Given the description of an element on the screen output the (x, y) to click on. 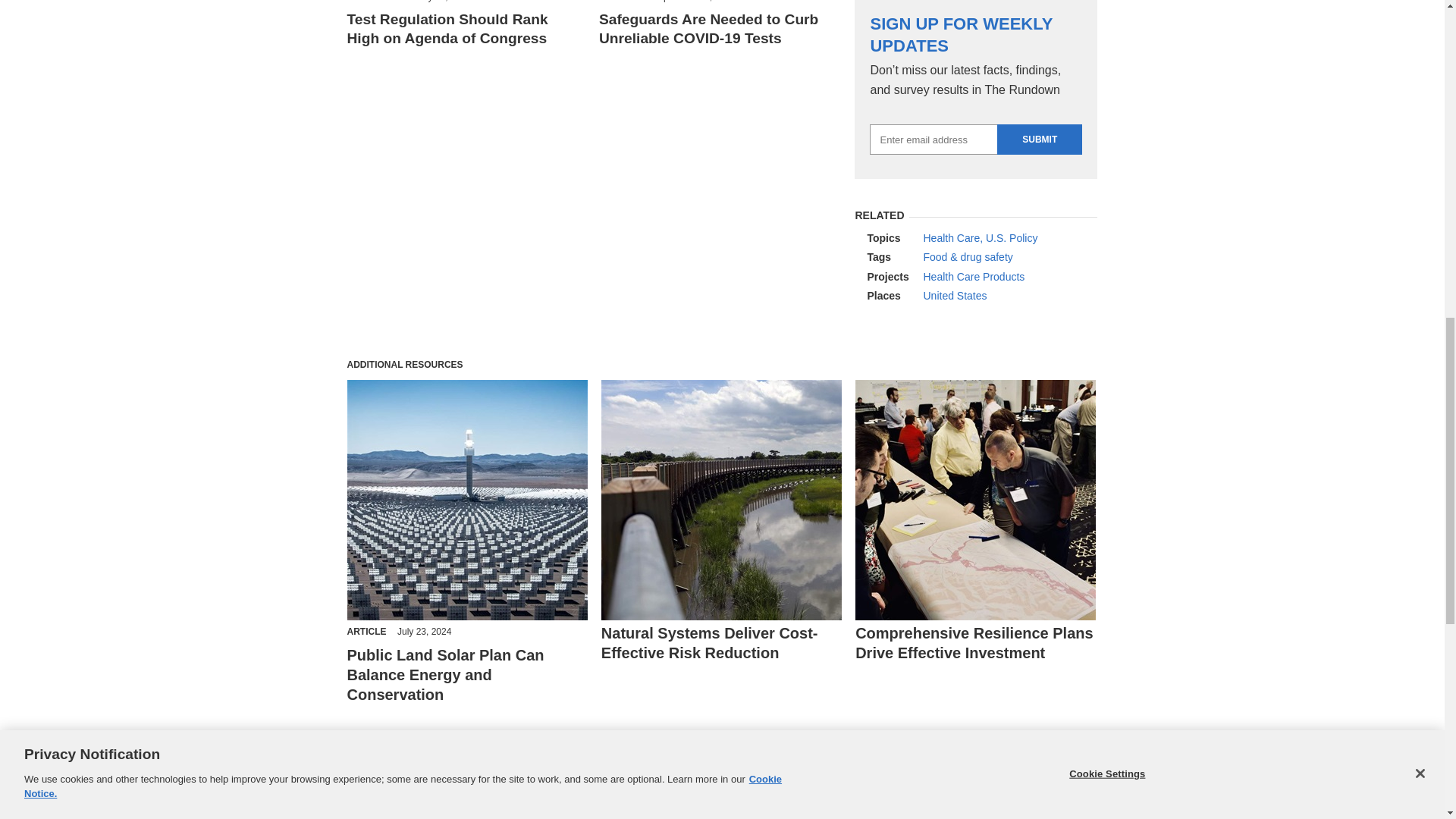
Submit (1039, 139)
Solar panels in a desert in front of a mountain (467, 499)
